Given the description of an element on the screen output the (x, y) to click on. 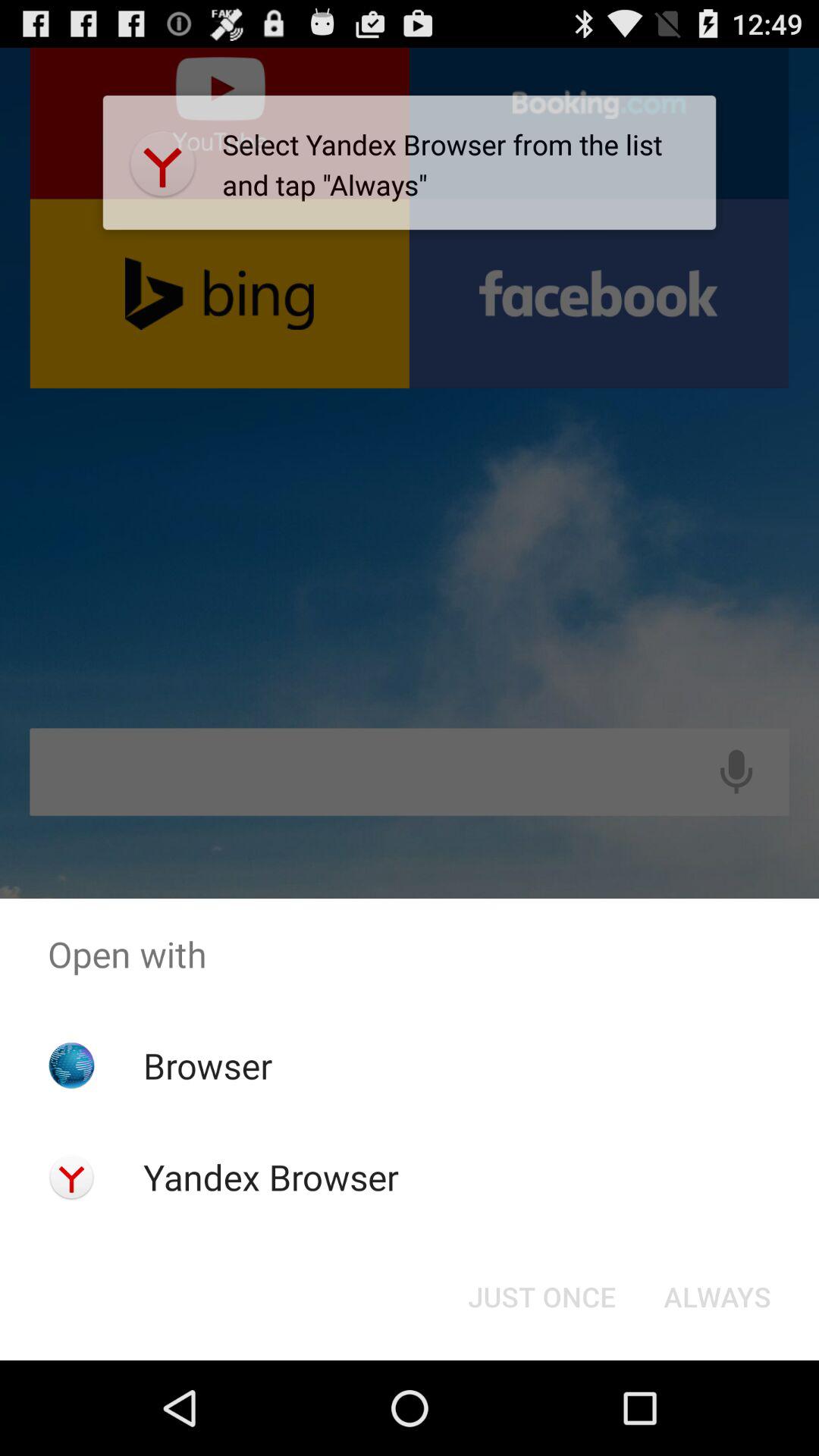
jump until always (717, 1296)
